Given the description of an element on the screen output the (x, y) to click on. 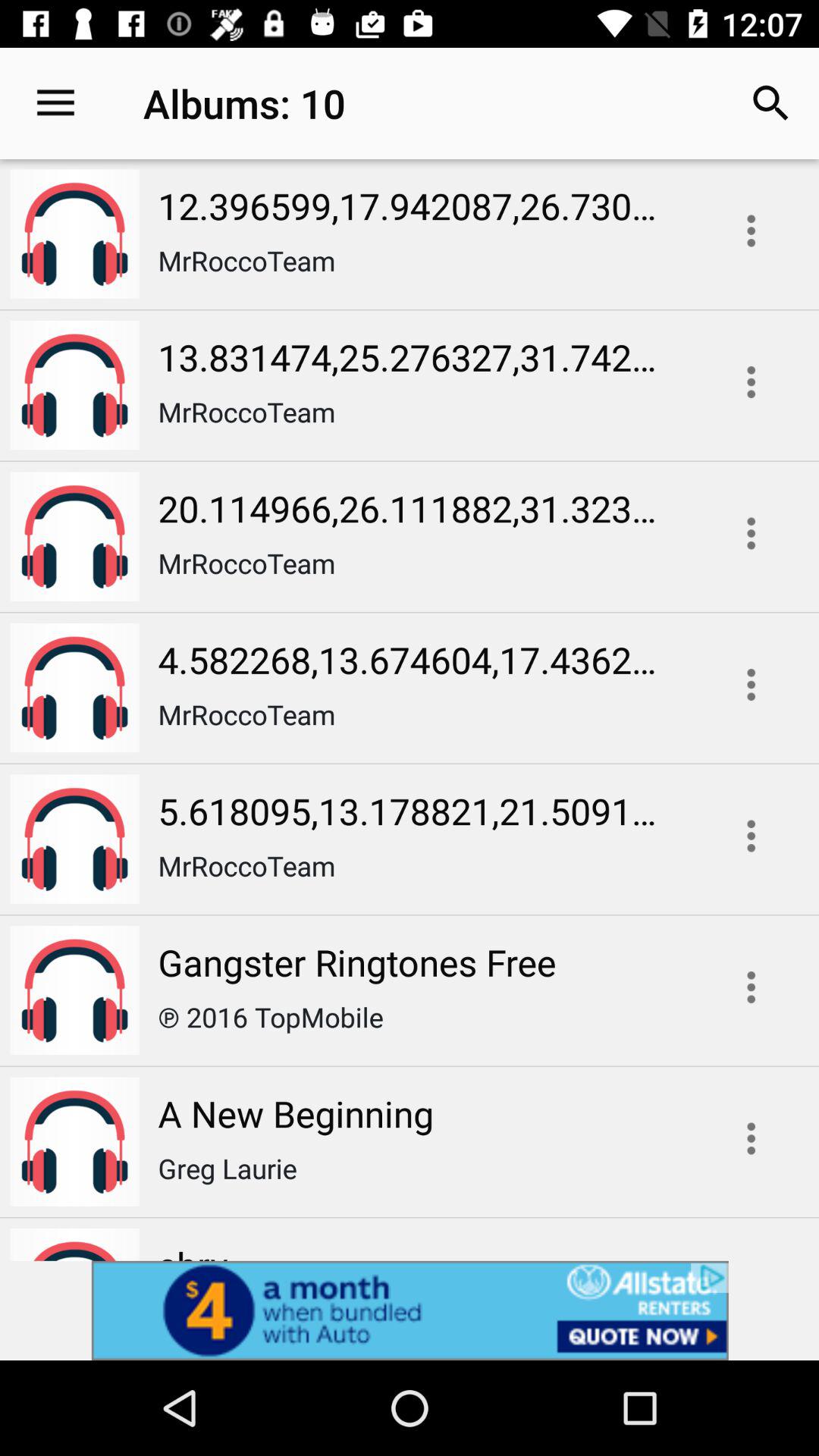
additional information (750, 684)
